Given the description of an element on the screen output the (x, y) to click on. 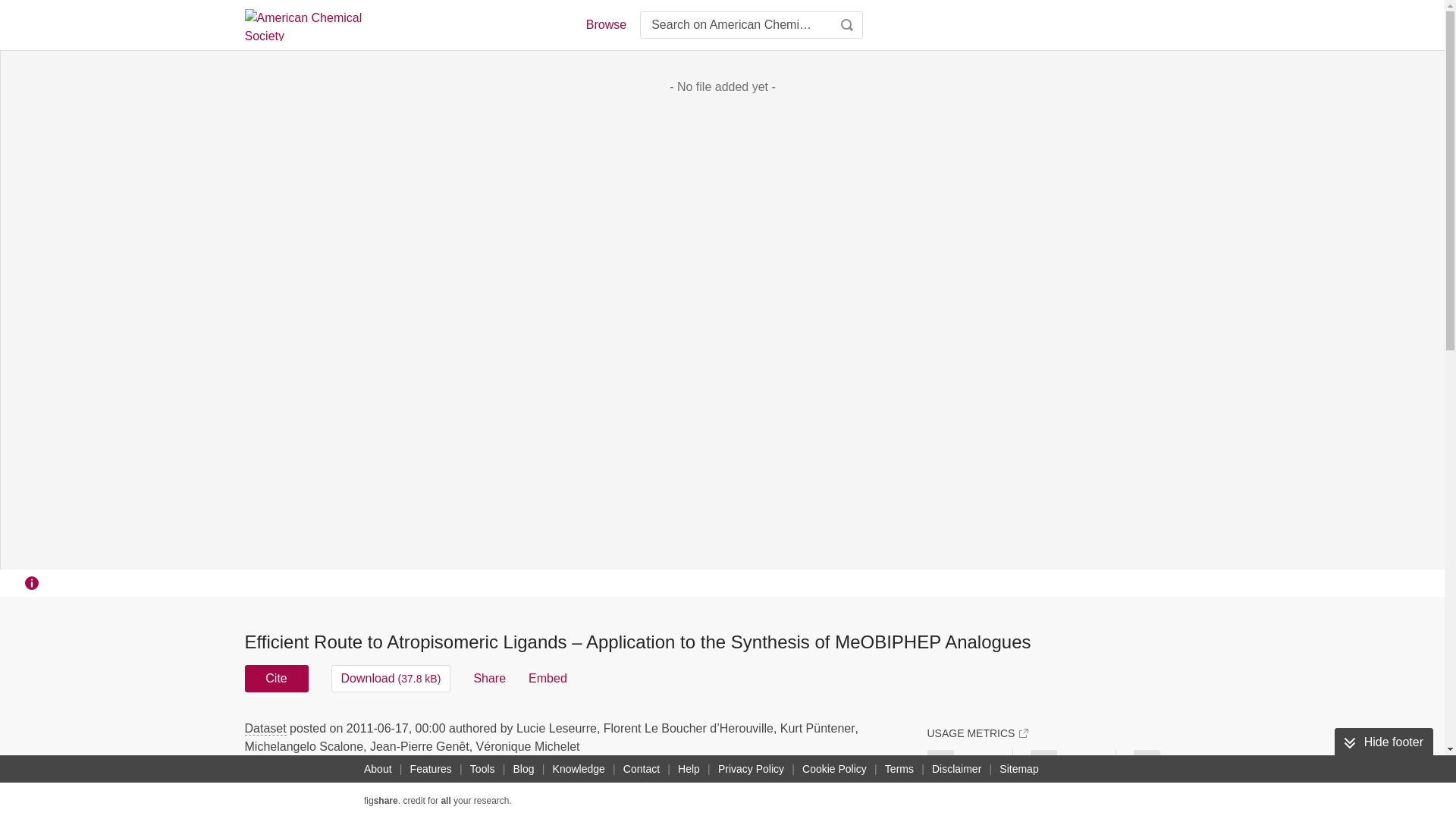
Cite (275, 678)
Hide footer (1383, 742)
Share (489, 678)
About (377, 769)
Browse (605, 24)
Blog (523, 769)
Embed (547, 678)
Features (431, 769)
Tools (482, 769)
USAGE METRICS (976, 732)
